Given the description of an element on the screen output the (x, y) to click on. 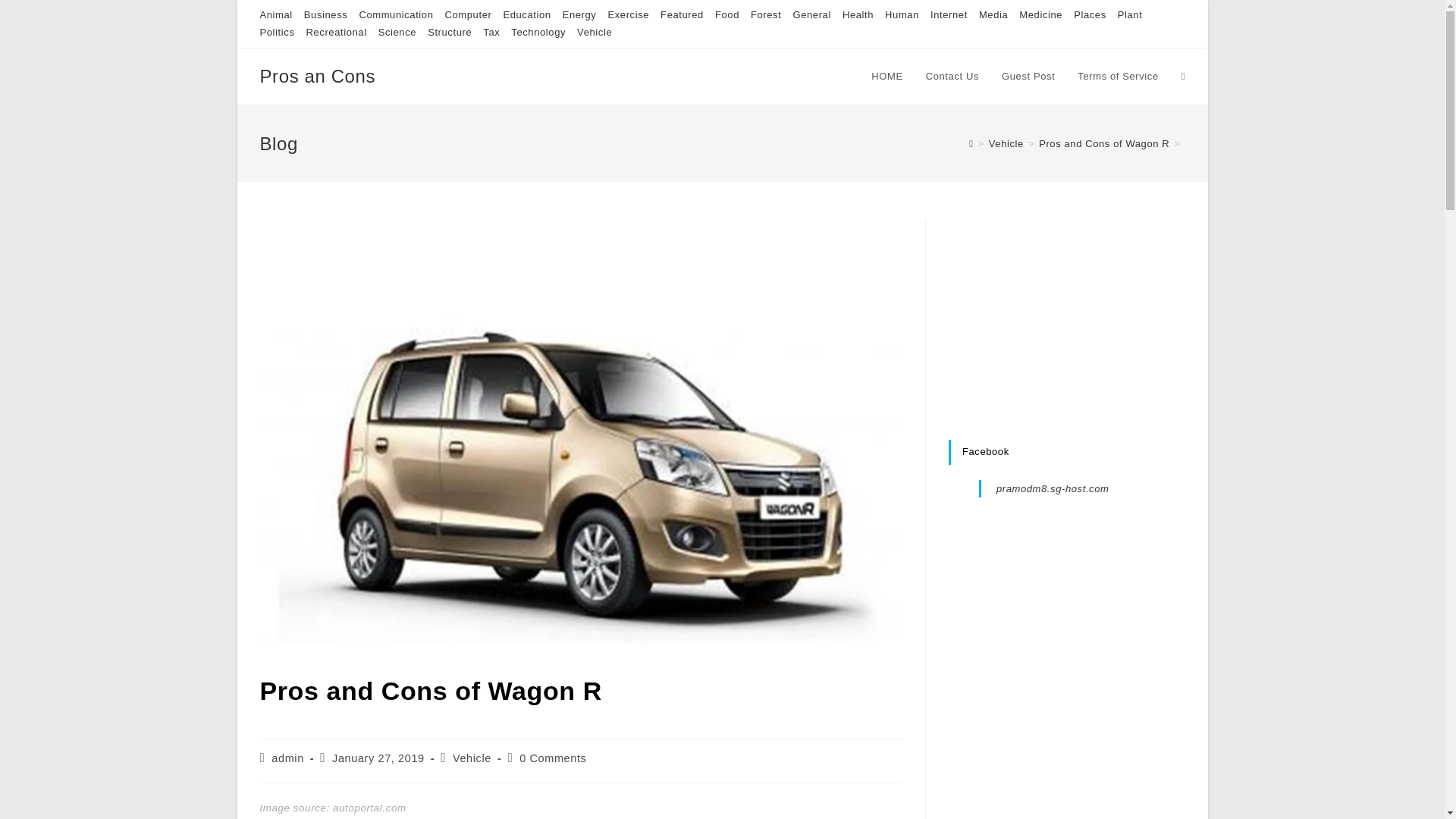
Business (325, 14)
General (810, 14)
Structure (449, 31)
Featured (682, 14)
Places (1090, 14)
Tax (491, 31)
Recreational (335, 31)
Media (992, 14)
Human (901, 14)
Contact Us (952, 76)
Terms of Service (1117, 76)
Technology (538, 31)
Plant (1130, 14)
Animal (275, 14)
Communication (395, 14)
